Given the description of an element on the screen output the (x, y) to click on. 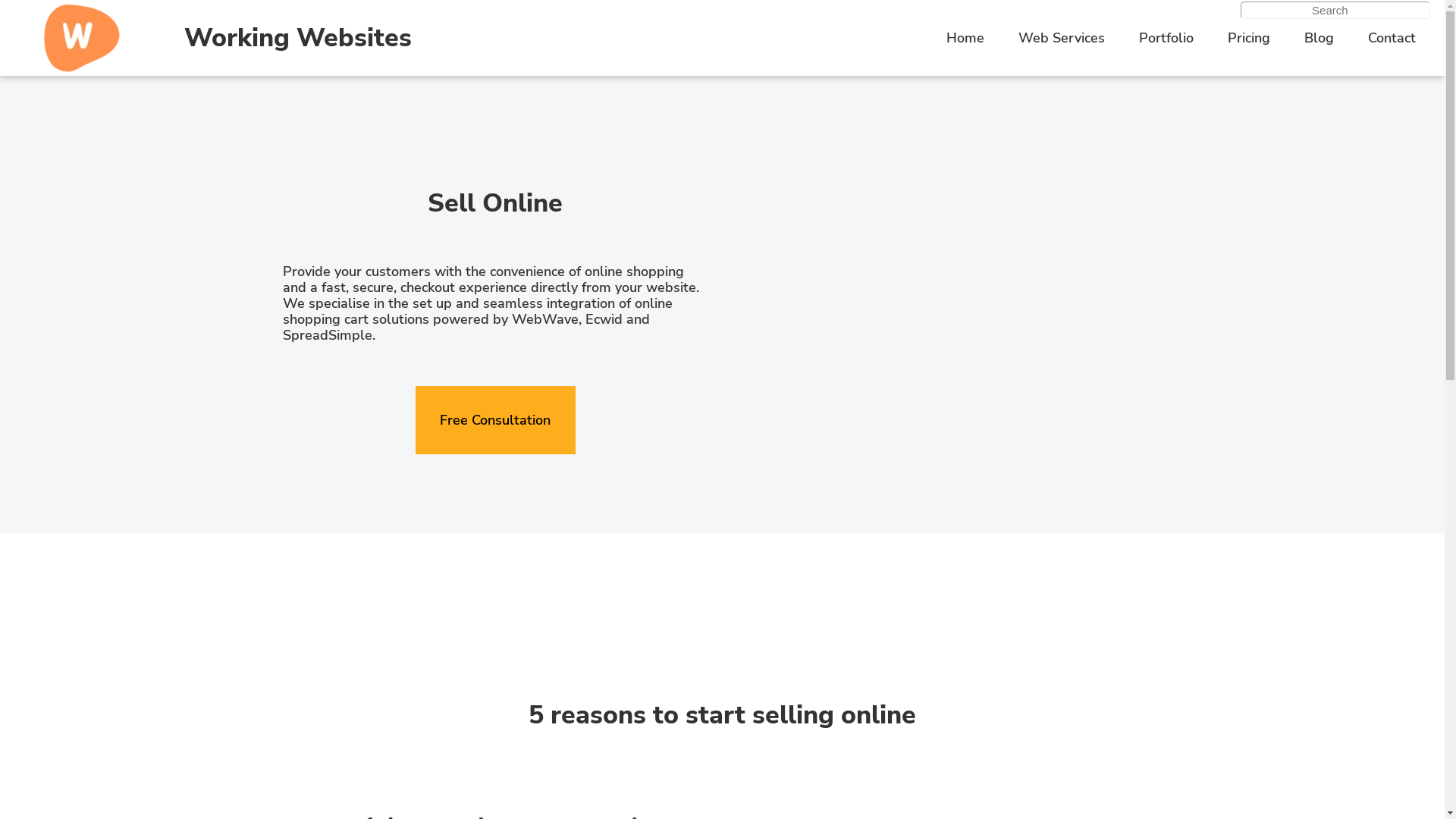
Working Websites Toowoomba Element type: hover (81, 37)
Blog Element type: text (1319, 38)
Contact Element type: text (1391, 38)
Portfolio Element type: text (1165, 38)
Home Element type: text (965, 38)
Web Services Element type: text (1061, 38)
Free Consultation Element type: text (495, 419)
Pricing Element type: text (1248, 38)
